Given the description of an element on the screen output the (x, y) to click on. 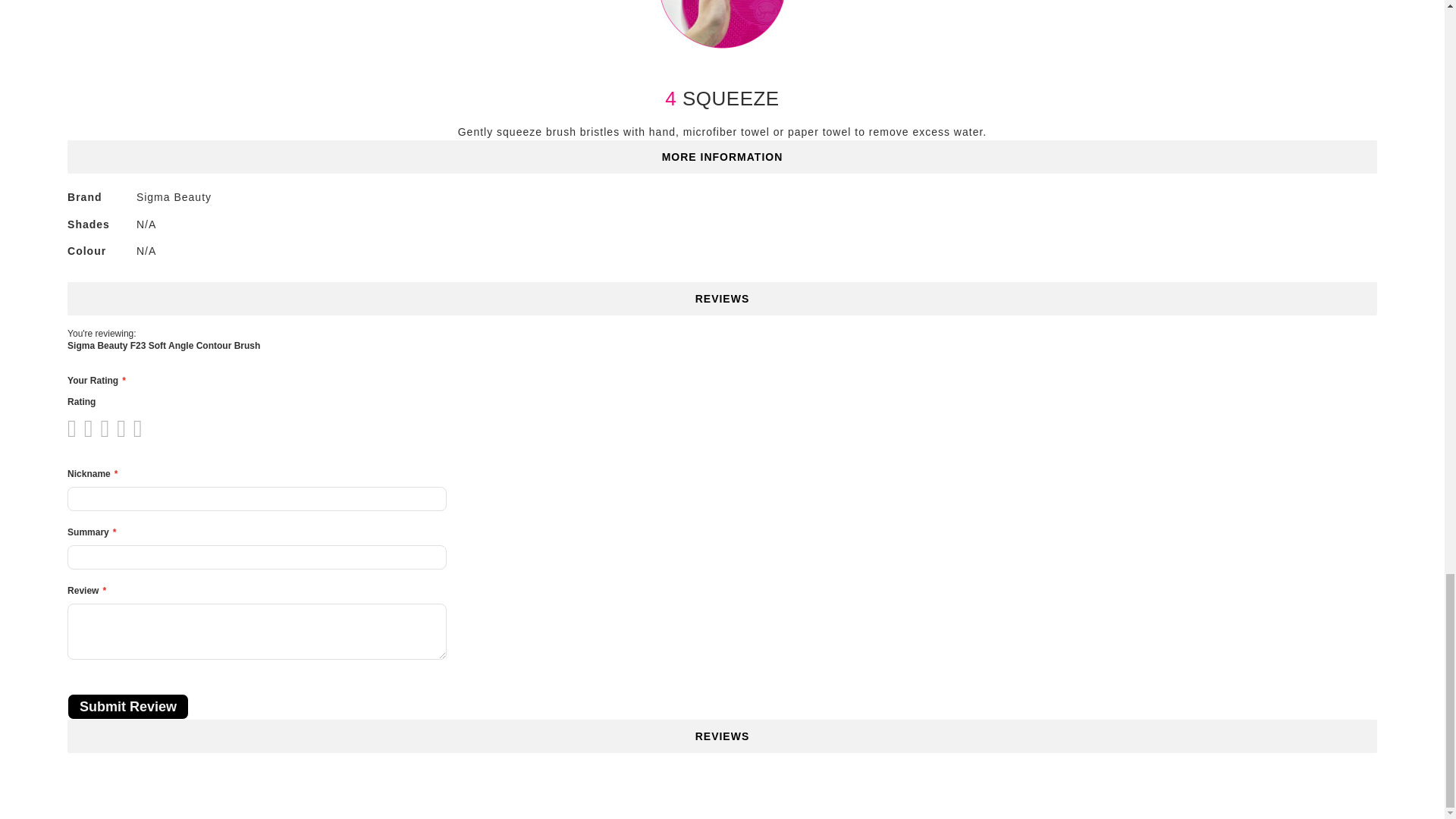
3 stars (91, 428)
5 stars (107, 428)
4 stars (99, 428)
2 stars (83, 428)
